Given the description of an element on the screen output the (x, y) to click on. 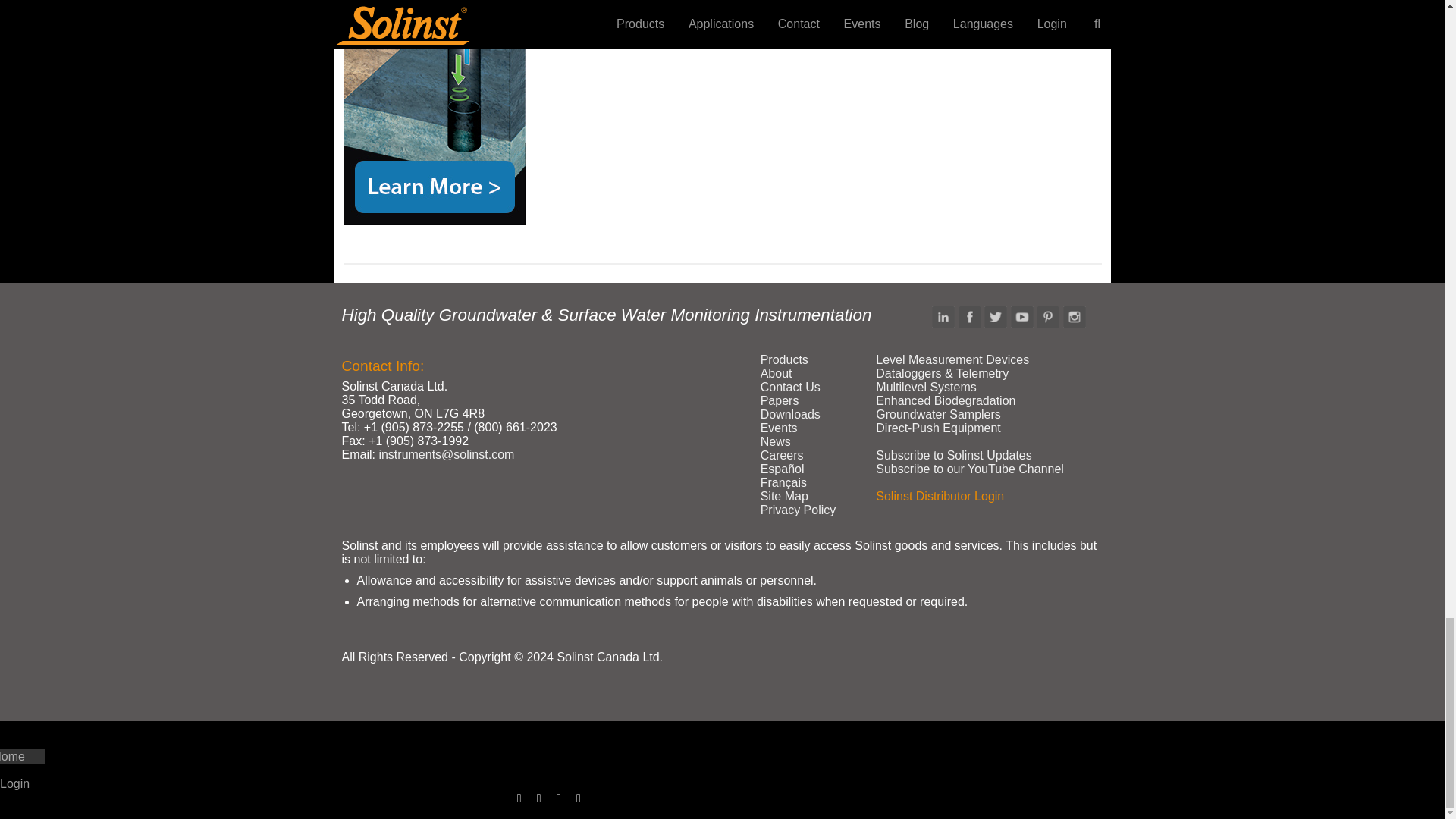
Facebook (969, 316)
Twitter (995, 316)
Pinterest (1047, 316)
LinkedIn (943, 316)
Instagram (1074, 316)
Solinst Sonic Water Level Meter (433, 112)
YouTube (1021, 316)
